Given the description of an element on the screen output the (x, y) to click on. 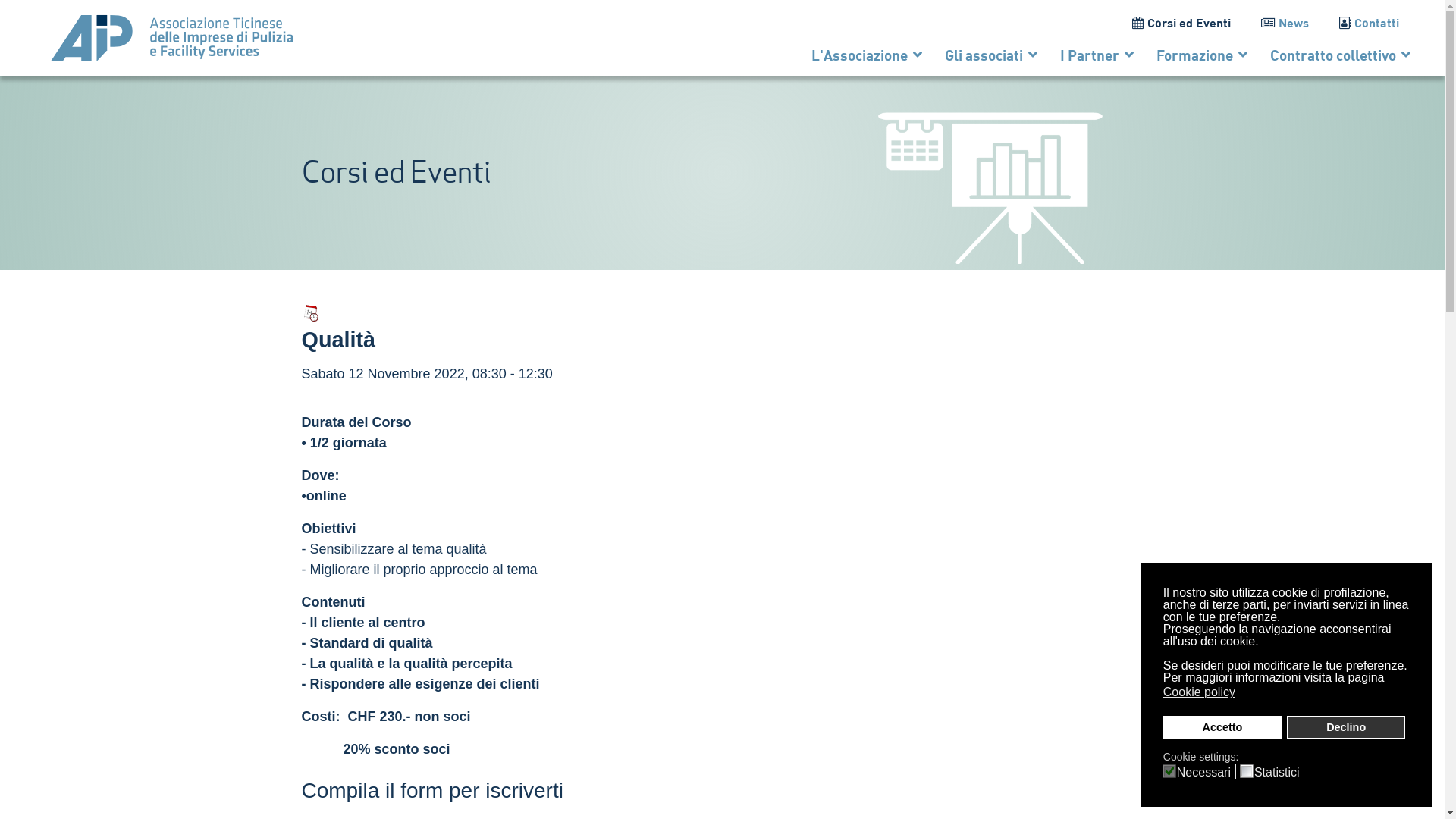
Contratto collettivo Element type: text (1334, 54)
News Element type: text (1284, 22)
Cookie policy Element type: text (1200, 692)
Accetto Element type: text (1222, 727)
Declino Element type: text (1345, 727)
Scarica il file iCal Element type: hover (310, 313)
I Partner Element type: text (1096, 54)
L'Associazione Element type: text (866, 54)
Necessari Element type: text (1206, 771)
Corsi ed Eventi Element type: text (1181, 22)
Statistici Element type: text (1279, 771)
Contatti Element type: text (1369, 22)
Formazione Element type: text (1201, 54)
Gli associati Element type: text (990, 54)
